Given the description of an element on the screen output the (x, y) to click on. 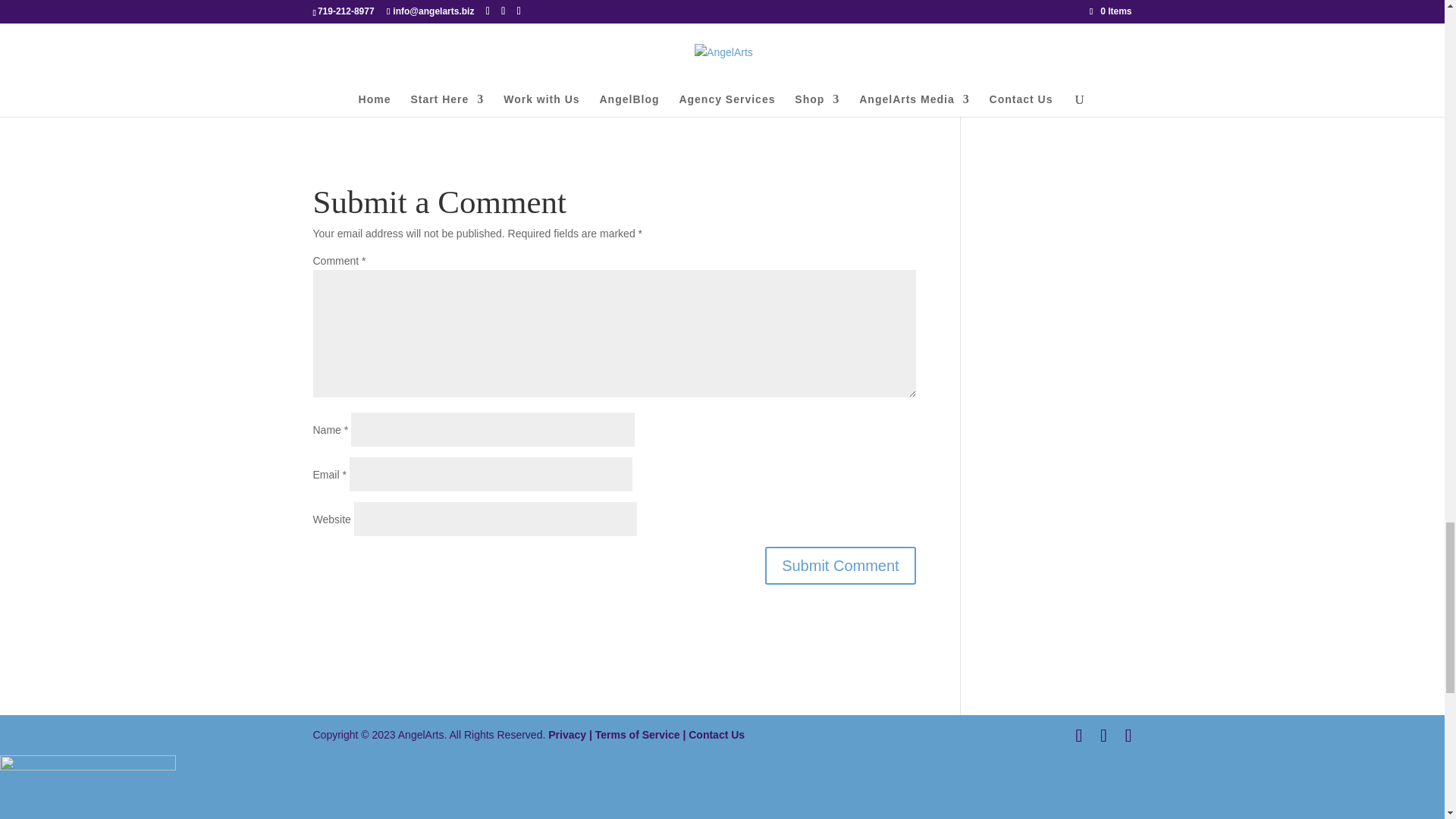
Submit Comment (840, 565)
RSS (501, 64)
